Given the description of an element on the screen output the (x, y) to click on. 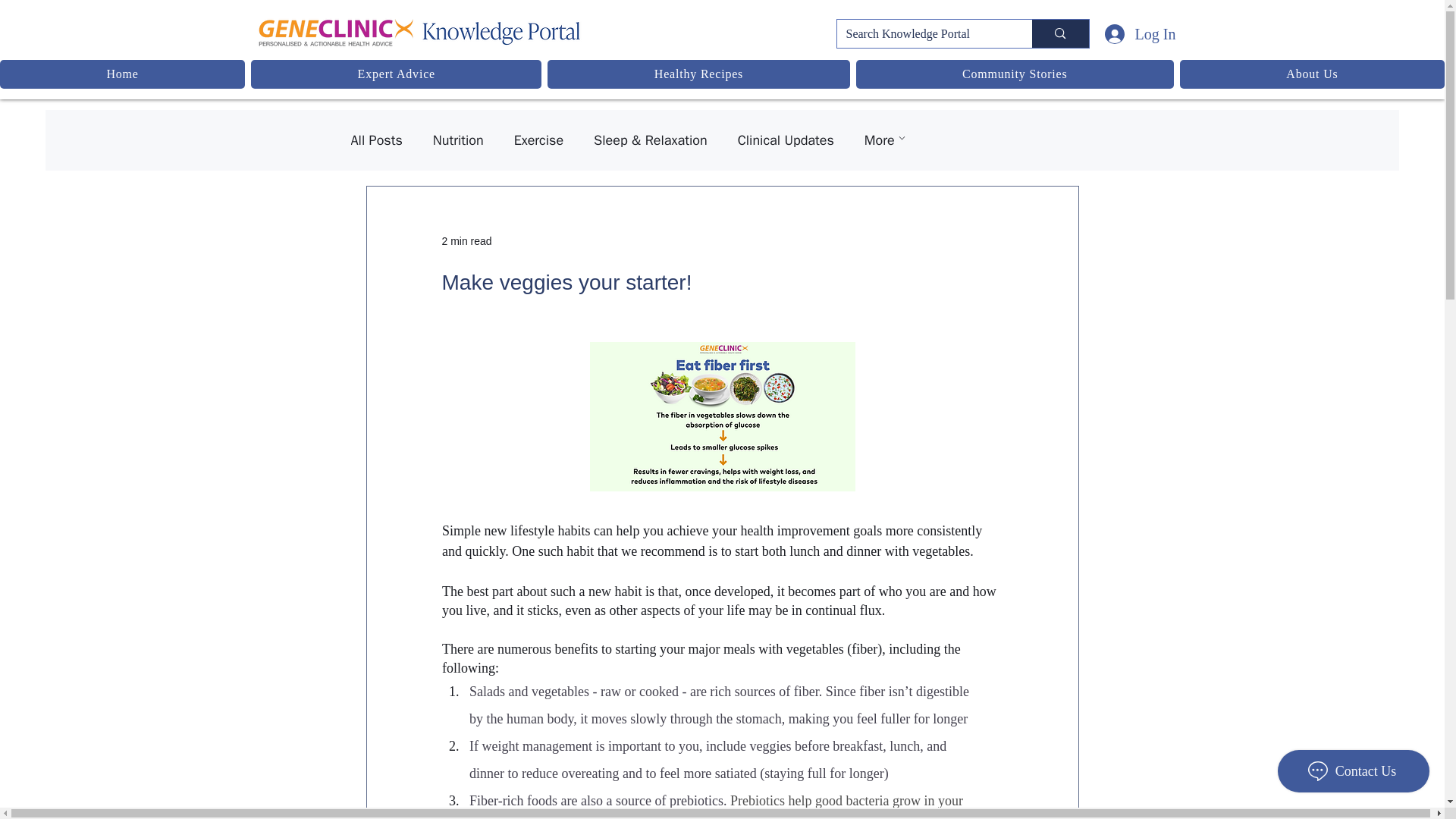
Expert Advice (395, 73)
Community Stories (1014, 73)
Nutrition (457, 140)
Wix Chat (1356, 774)
All Posts (375, 140)
Log In (1123, 34)
Clinical Updates (786, 140)
Home (122, 73)
2 min read (466, 241)
About Us (1311, 73)
